Given the description of an element on the screen output the (x, y) to click on. 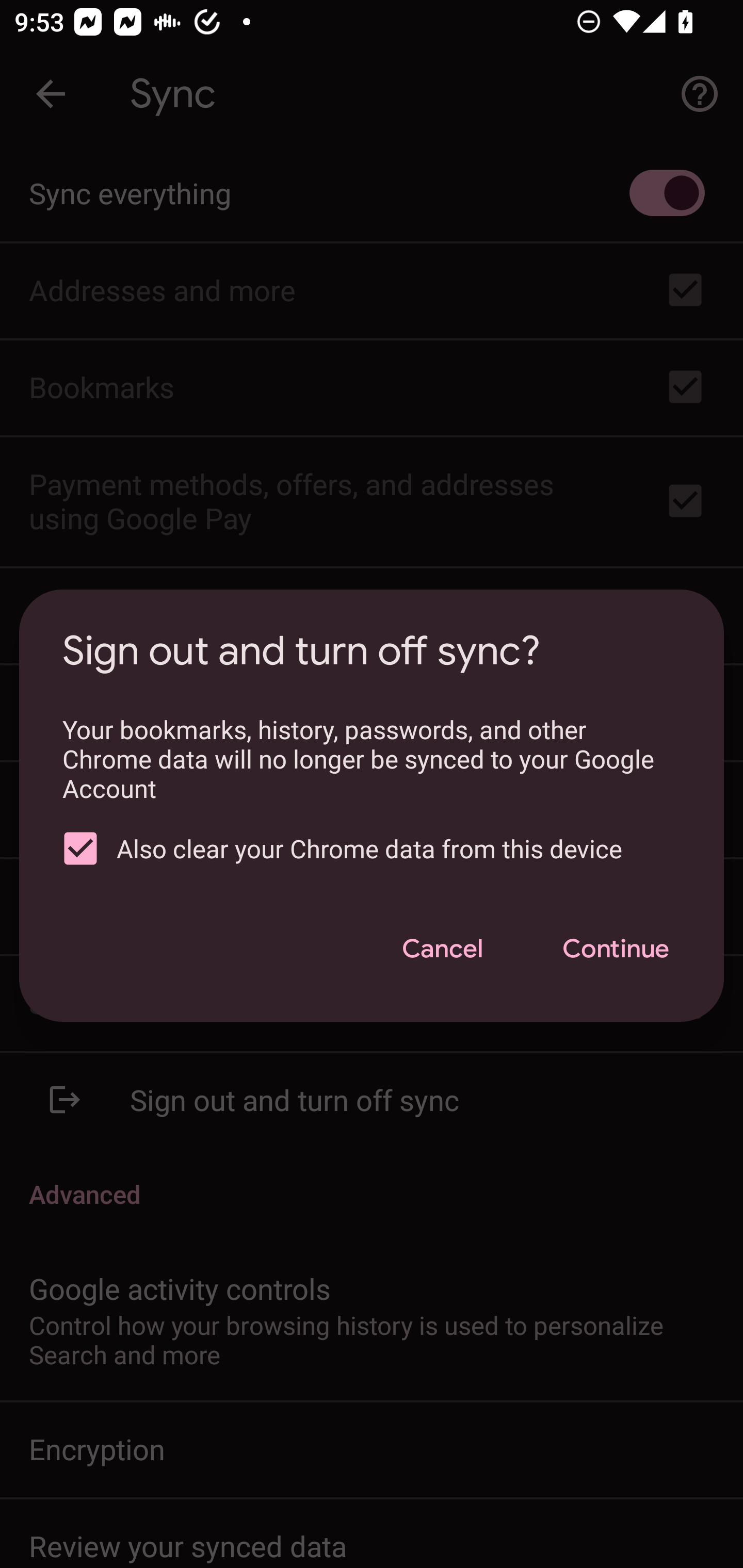
Also clear your Chrome data from this device (364, 849)
Cancel (441, 949)
Continue (615, 949)
